Given the description of an element on the screen output the (x, y) to click on. 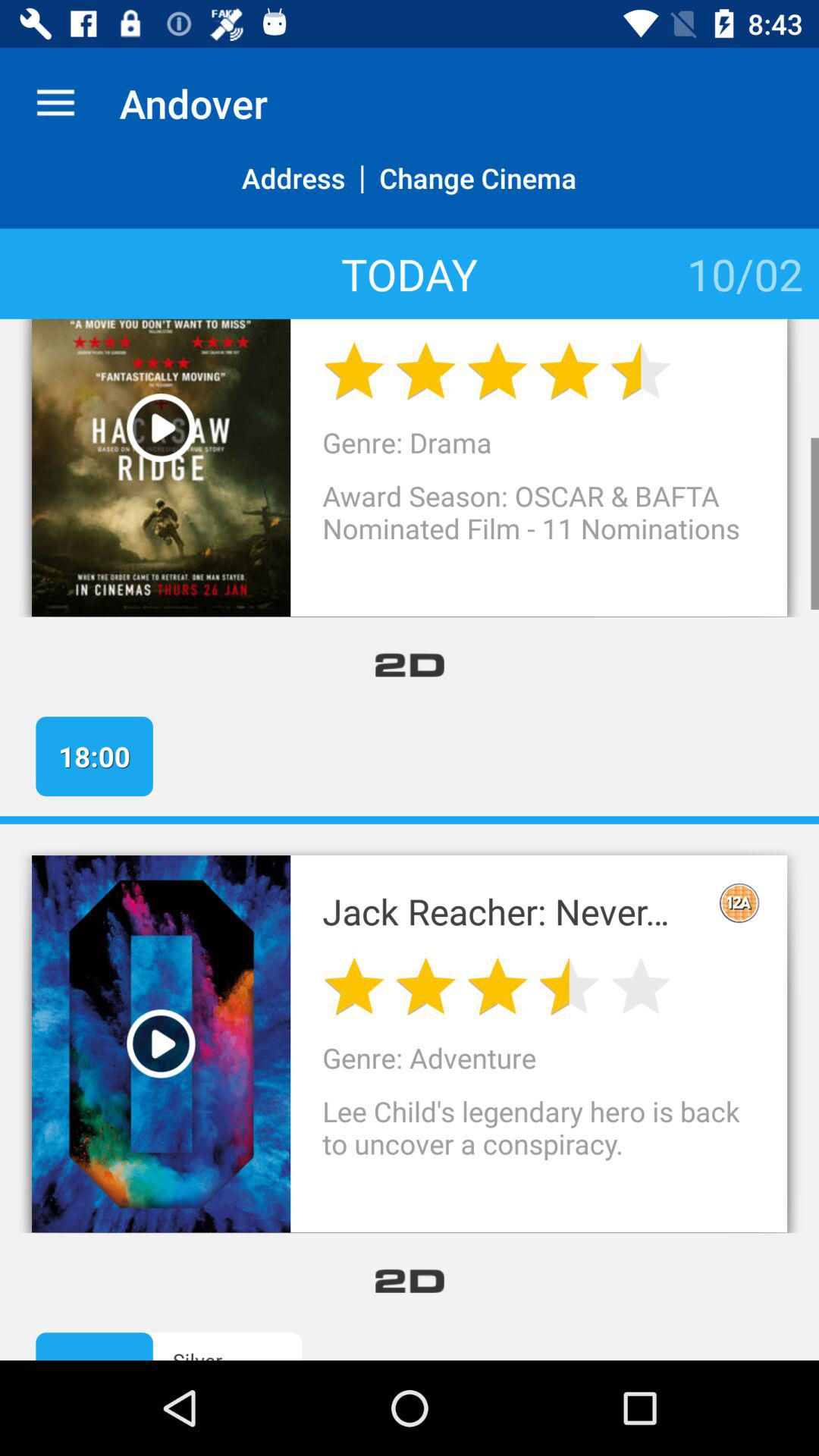
select lee child s (538, 1143)
